Given the description of an element on the screen output the (x, y) to click on. 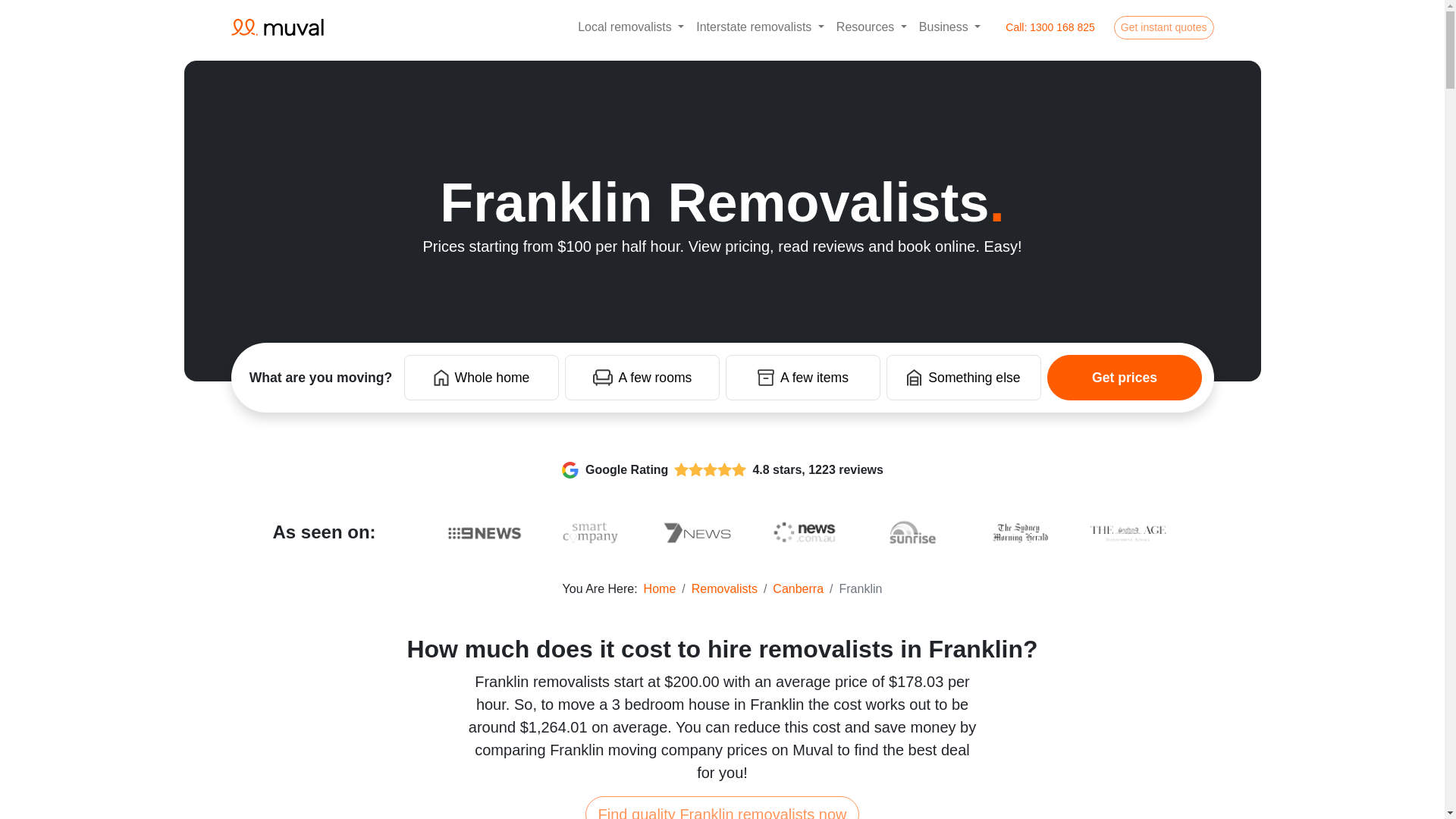
Local removalists (631, 27)
Interstate removalists (759, 27)
Business (949, 27)
Interstate removalists (759, 27)
Local removalists (631, 27)
Get instant quotes (1163, 26)
Resources (870, 27)
Call: 1300 168 825 (1050, 26)
